Given the description of an element on the screen output the (x, y) to click on. 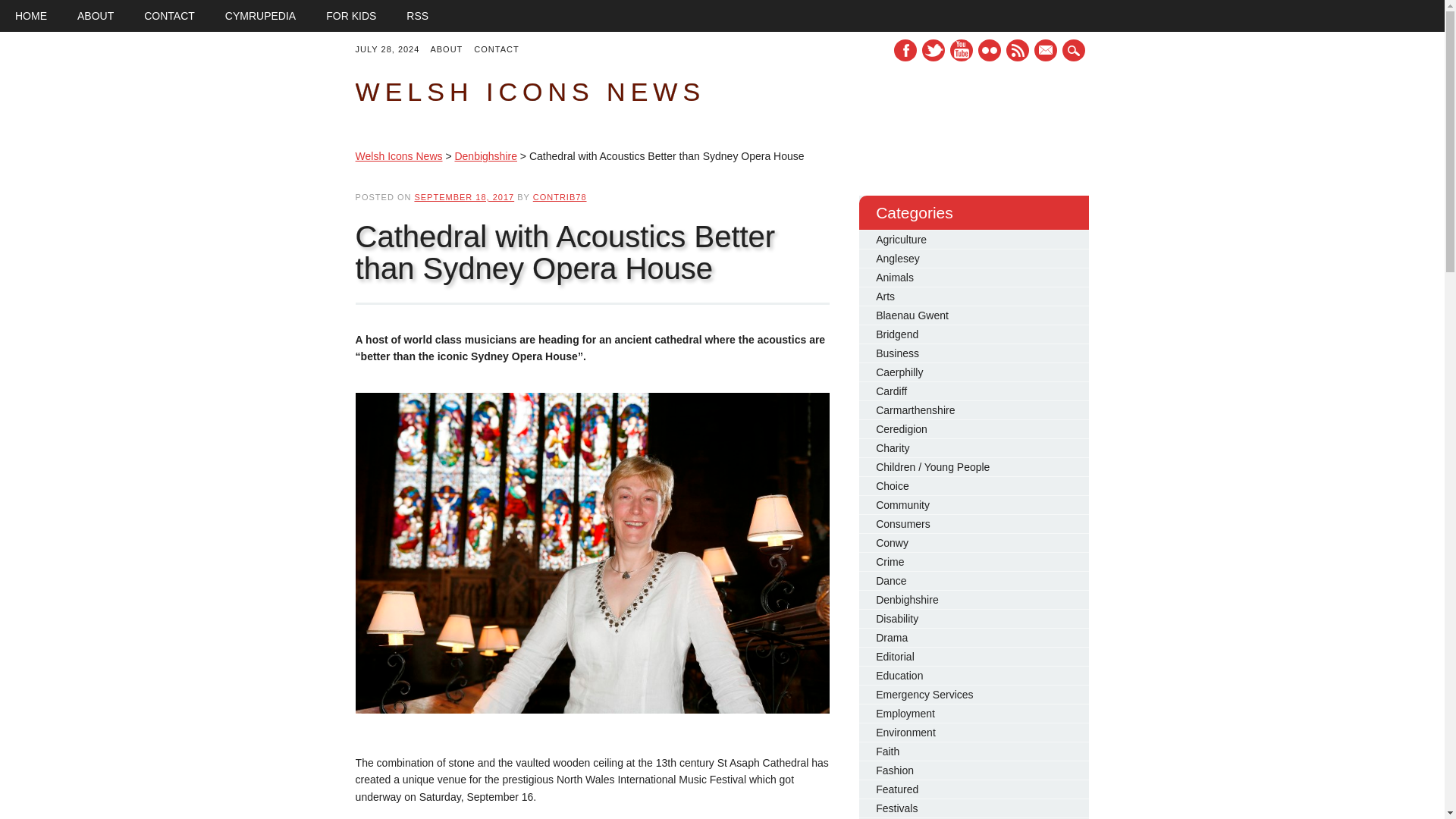
CONTACT (169, 15)
Welsh Icons News (529, 91)
Go to Welsh Icons News. (398, 155)
ABOUT (95, 15)
View all posts by Contrib78 (559, 196)
Go to the Denbighshire category archives. (485, 155)
CYMRUPEDIA (260, 15)
HOME (31, 15)
10:21 am (463, 196)
